Given the description of an element on the screen output the (x, y) to click on. 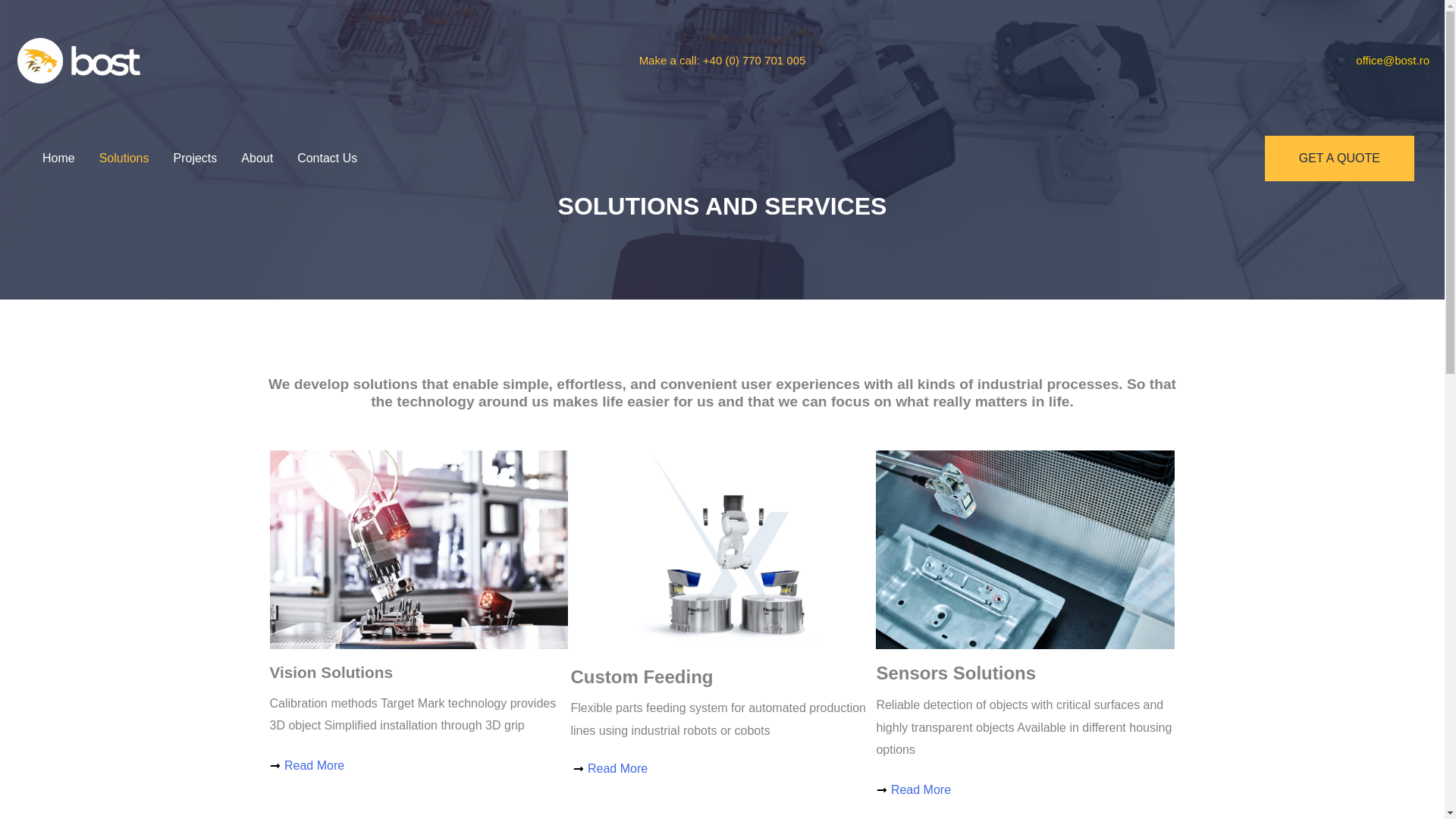
Read More (721, 768)
Read More (418, 765)
Projects (195, 157)
About (256, 157)
Read More (1024, 789)
Home (58, 157)
Solutions (124, 157)
Contact Us (327, 157)
GET A QUOTE (1339, 157)
